Given the description of an element on the screen output the (x, y) to click on. 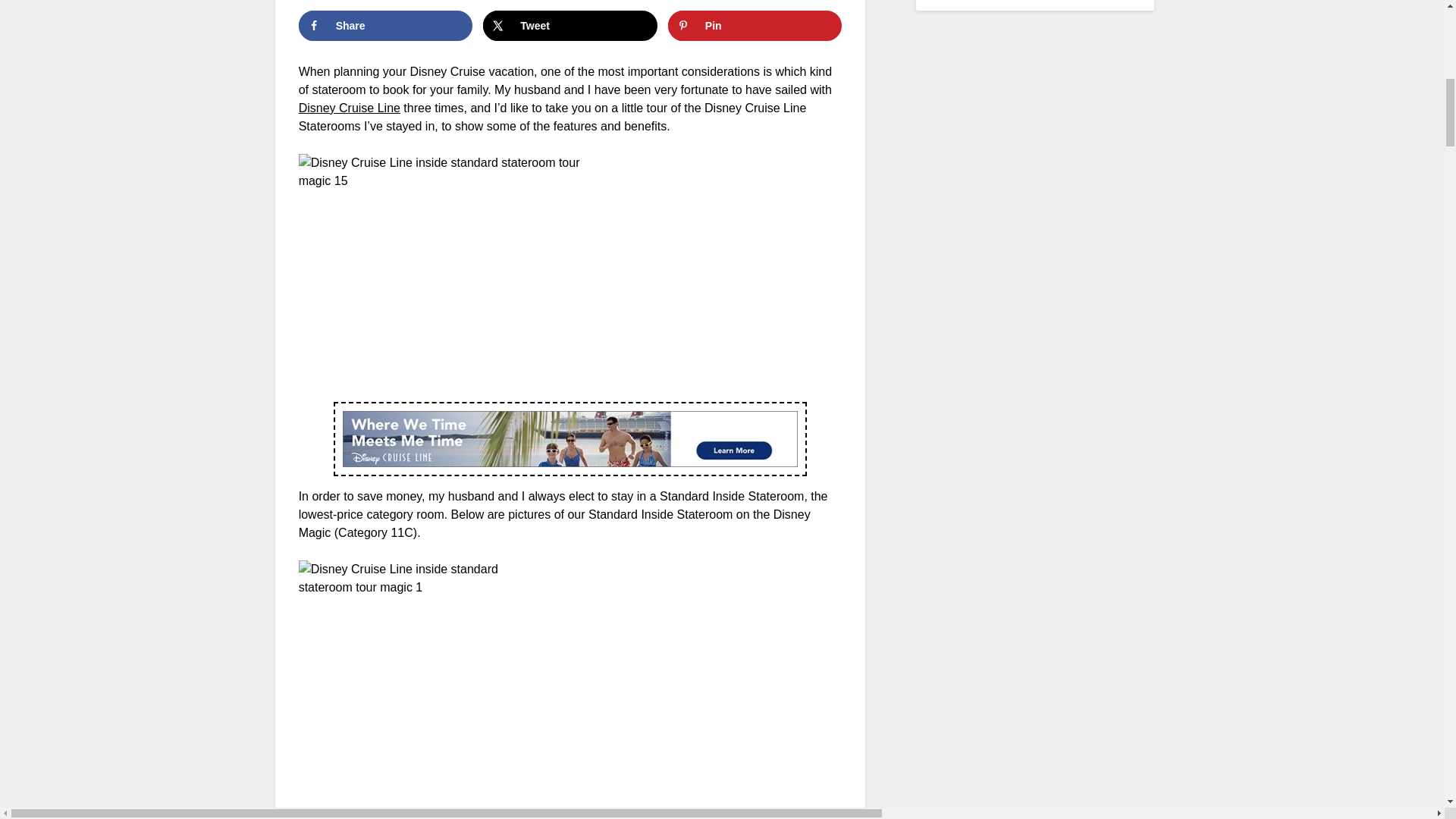
Share (384, 25)
Share on X (569, 25)
Tweet (569, 25)
Disney Cruise Line (349, 107)
Save to Pinterest (754, 25)
Share on Facebook (384, 25)
Pin (754, 25)
